Given the description of an element on the screen output the (x, y) to click on. 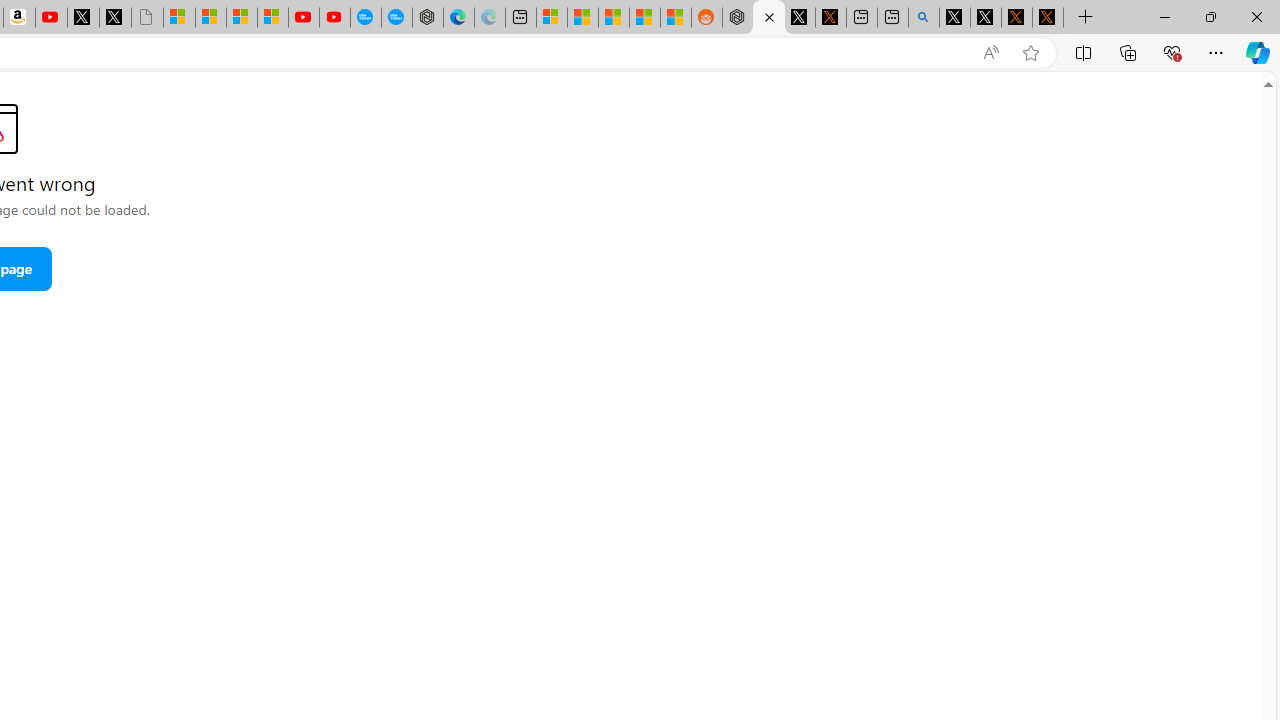
Untitled (146, 17)
